Given the description of an element on the screen output the (x, y) to click on. 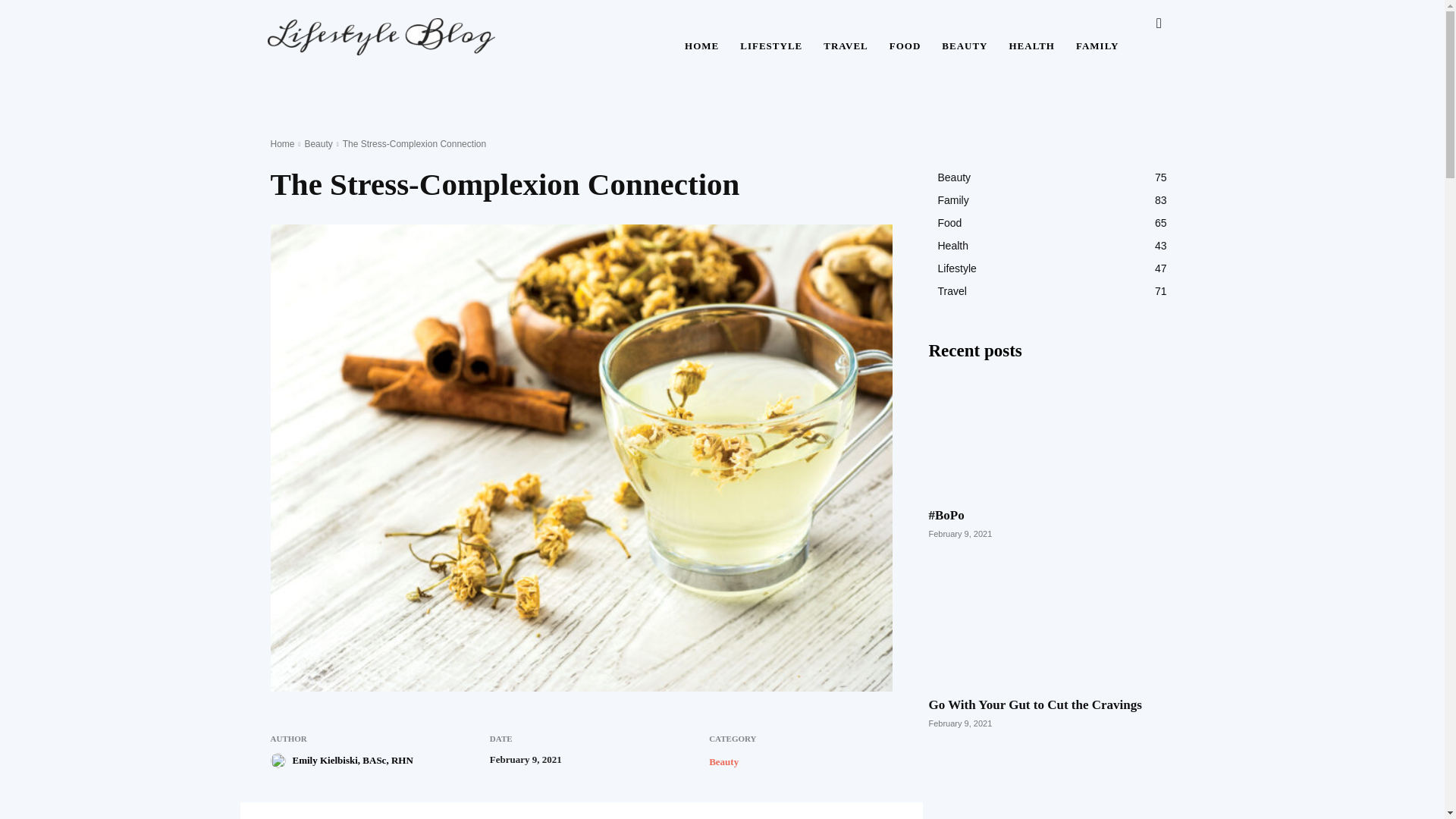
TRAVEL (845, 45)
LIFESTYLE (770, 45)
BEAUTY (964, 45)
Emily Kielbiski, BASc, RHN (352, 760)
HEALTH (1030, 45)
lifestyle news (380, 35)
HOME (701, 45)
FAMILY (1097, 45)
Emily Kielbiski, BASc, RHN (279, 760)
Beauty (317, 143)
